Given the description of an element on the screen output the (x, y) to click on. 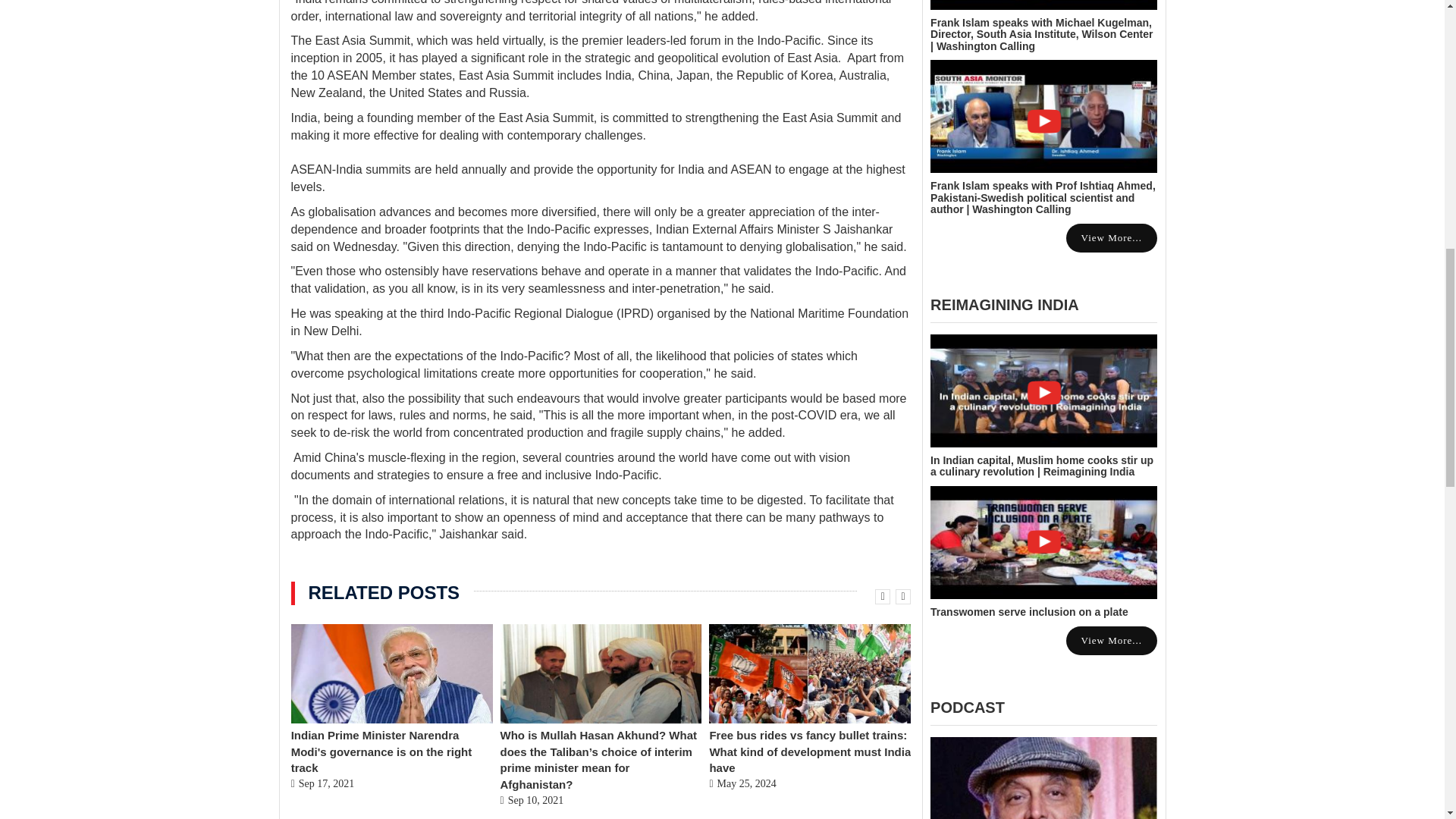
The intrepid Abhilash and GGR 2022-Part IV (1043, 778)
